Given the description of an element on the screen output the (x, y) to click on. 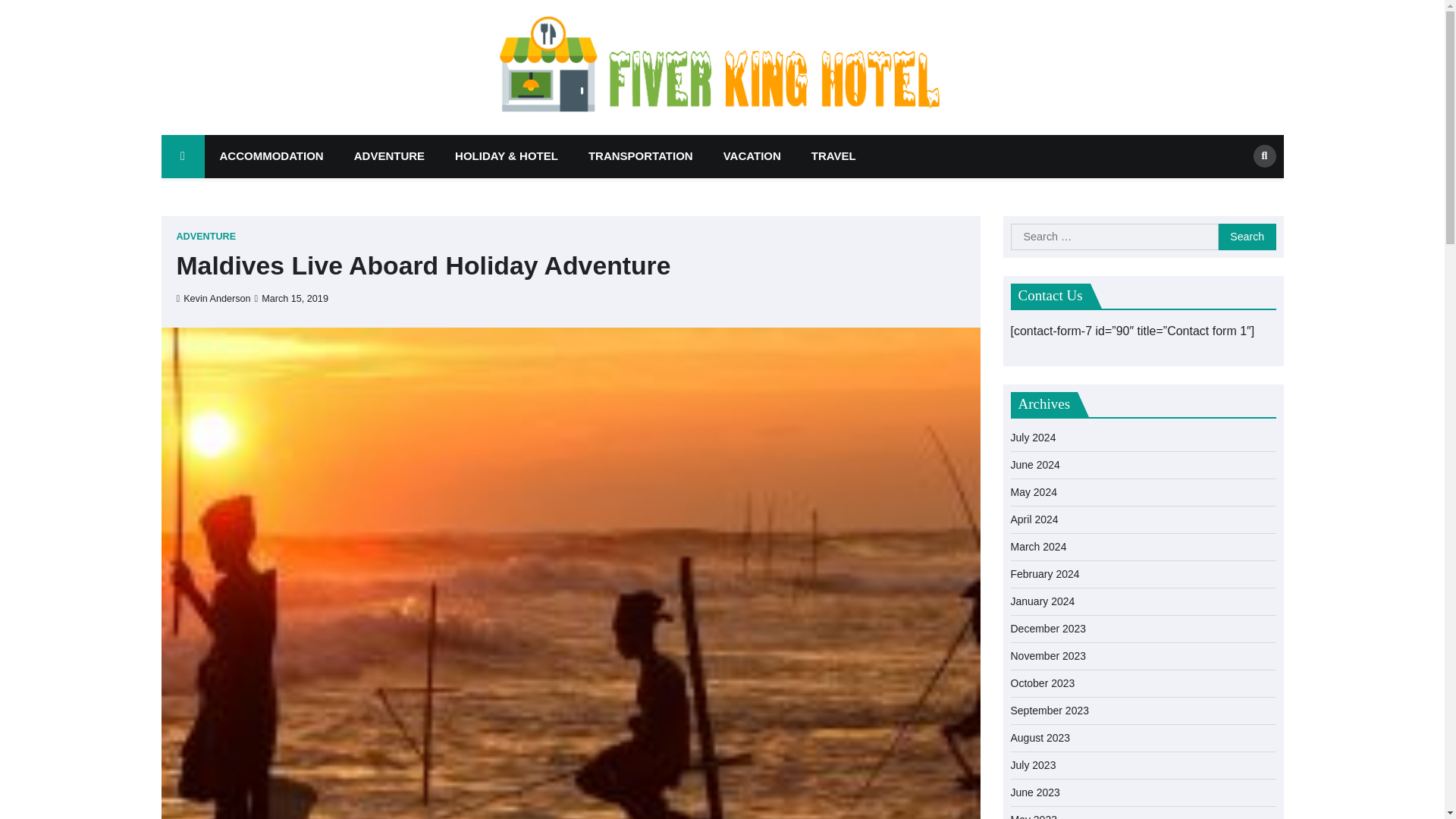
Kevin Anderson (213, 298)
July 2023 (1032, 765)
Search (1247, 236)
TRAVEL (833, 156)
September 2023 (1049, 710)
Search (1263, 155)
March 2024 (1037, 546)
Search (1247, 236)
July 2024 (1032, 437)
Search (1238, 188)
December 2023 (1048, 628)
March 15, 2019 (291, 298)
February 2024 (1044, 573)
VACATION (751, 156)
Five Kings Hotel (1068, 87)
